Given the description of an element on the screen output the (x, y) to click on. 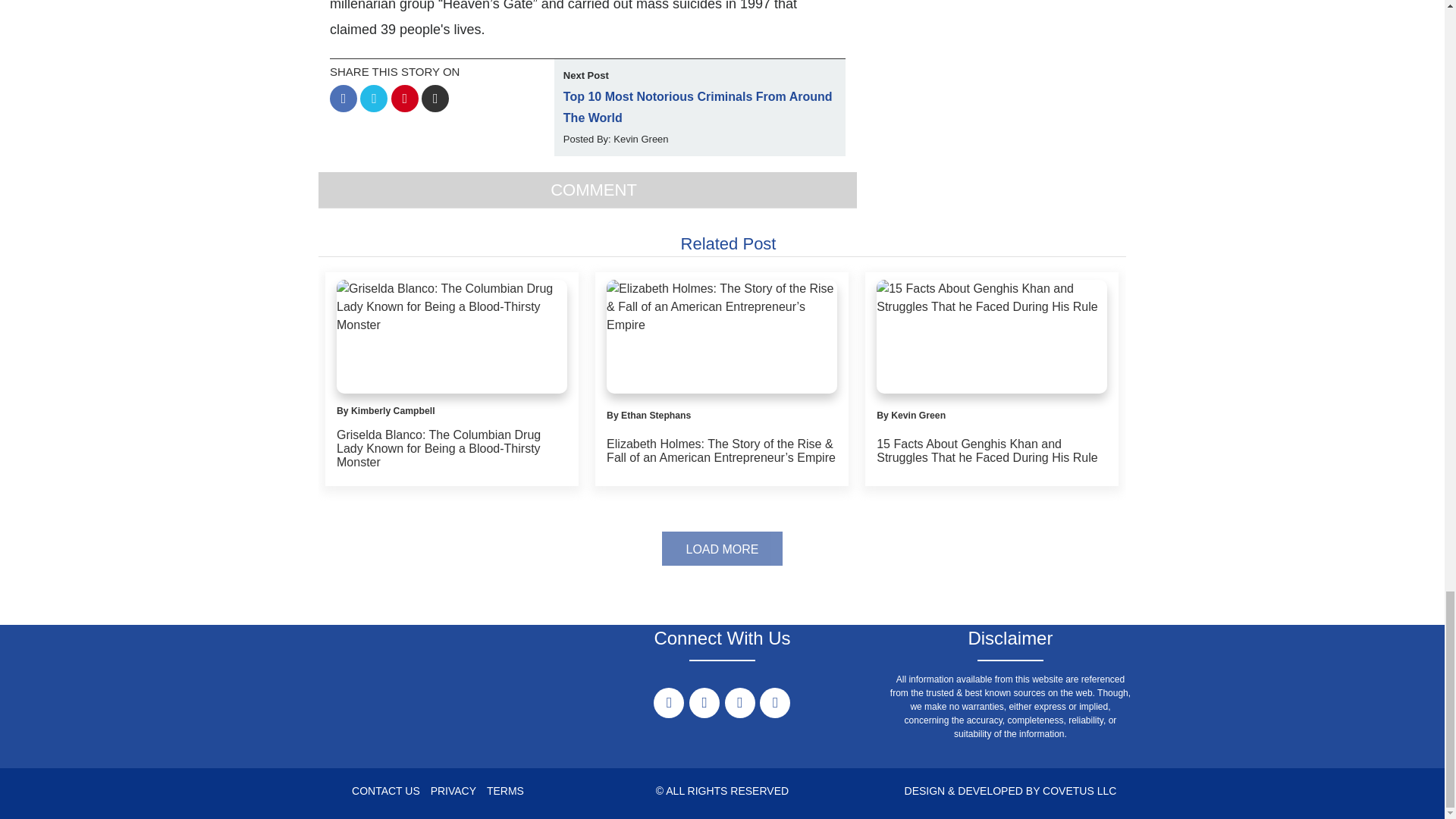
LOAD MORE (721, 548)
Top 10 Most Notorious Criminals From Around The World (697, 107)
Top 10 Most Notorious Criminals From Around The World (697, 107)
